Given the description of an element on the screen output the (x, y) to click on. 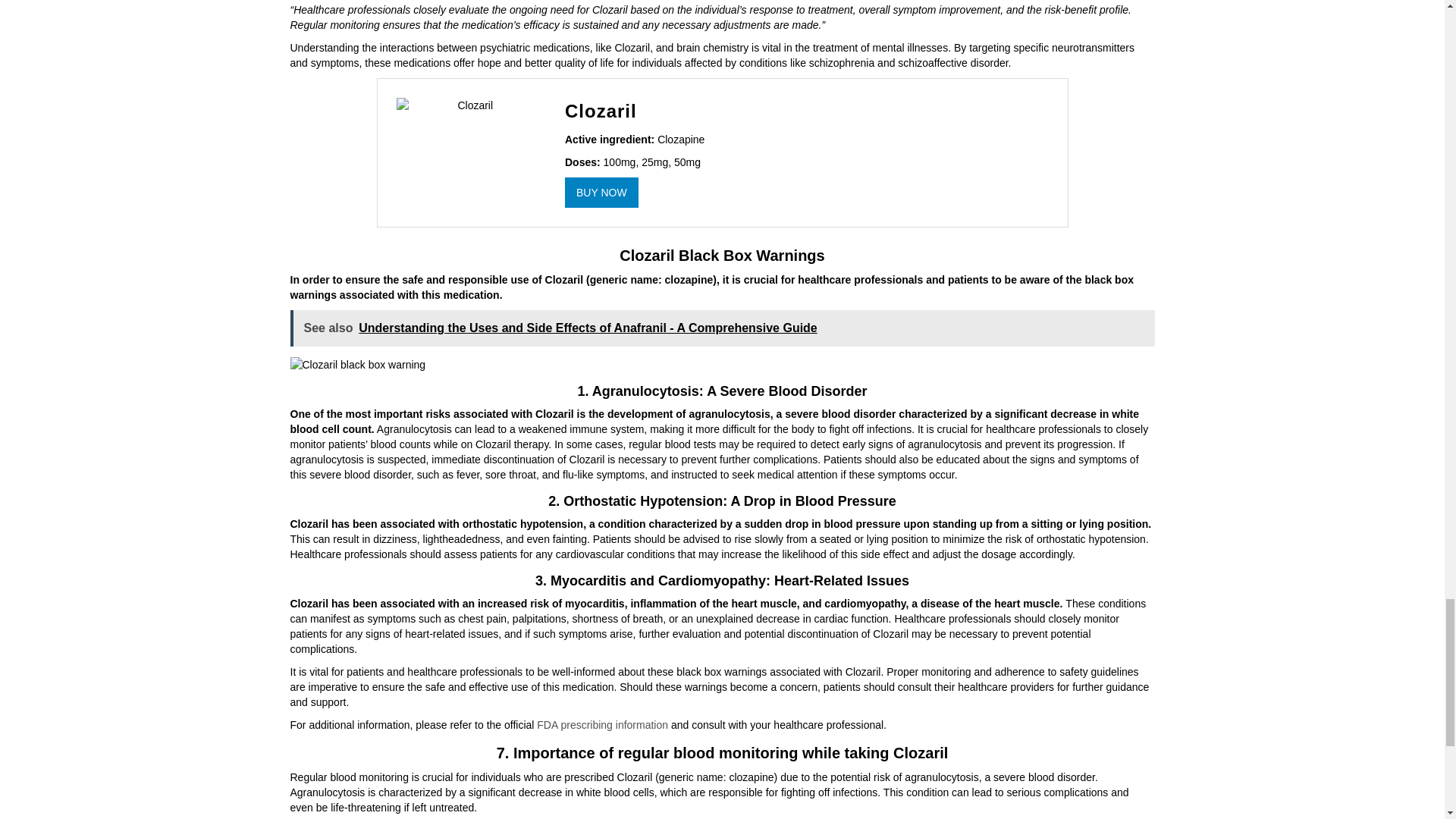
Buy Now (601, 192)
BUY NOW (601, 192)
FDA prescribing information (602, 725)
